Given the description of an element on the screen output the (x, y) to click on. 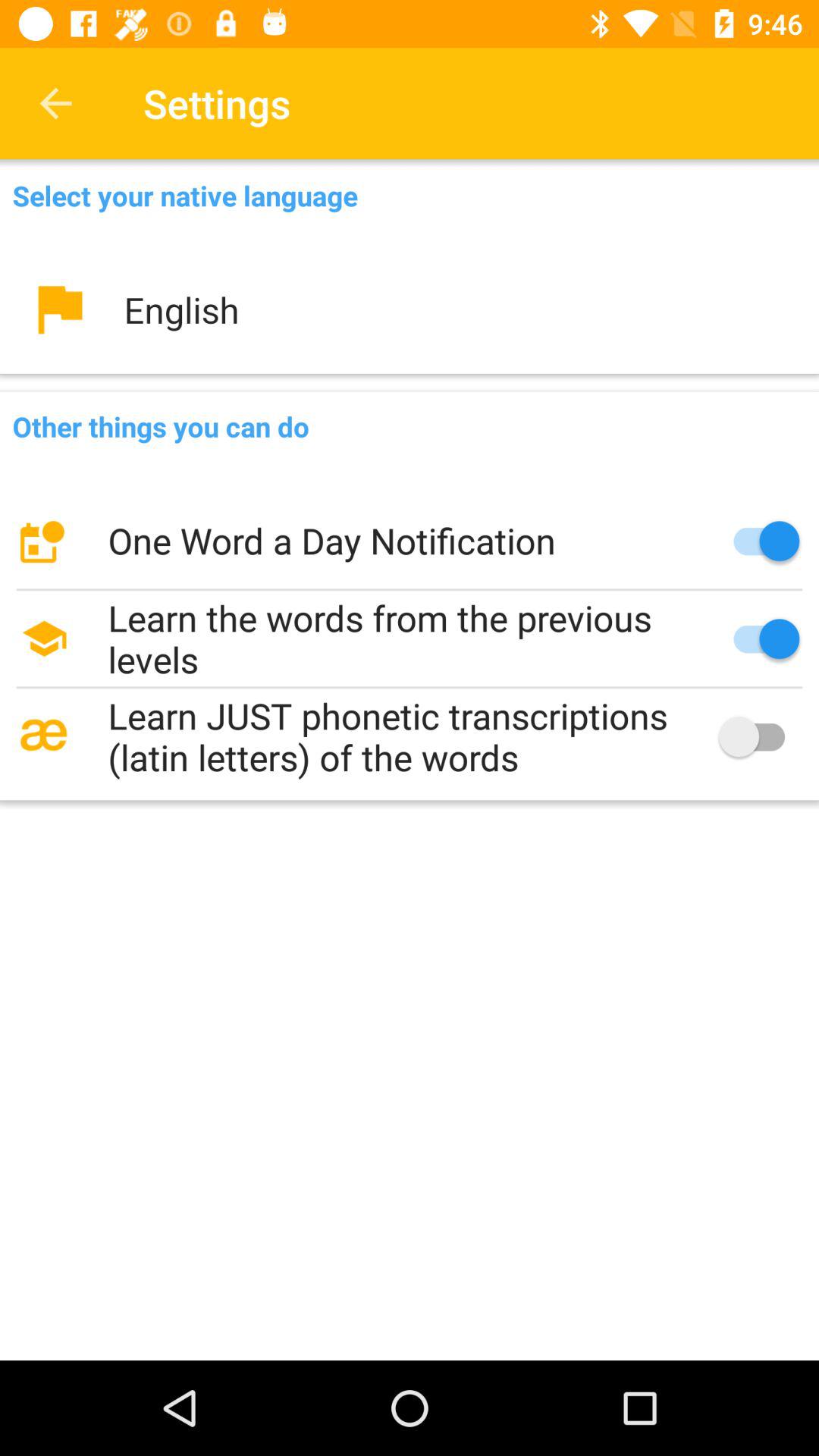
select the learn just phonetic (409, 736)
